Given the description of an element on the screen output the (x, y) to click on. 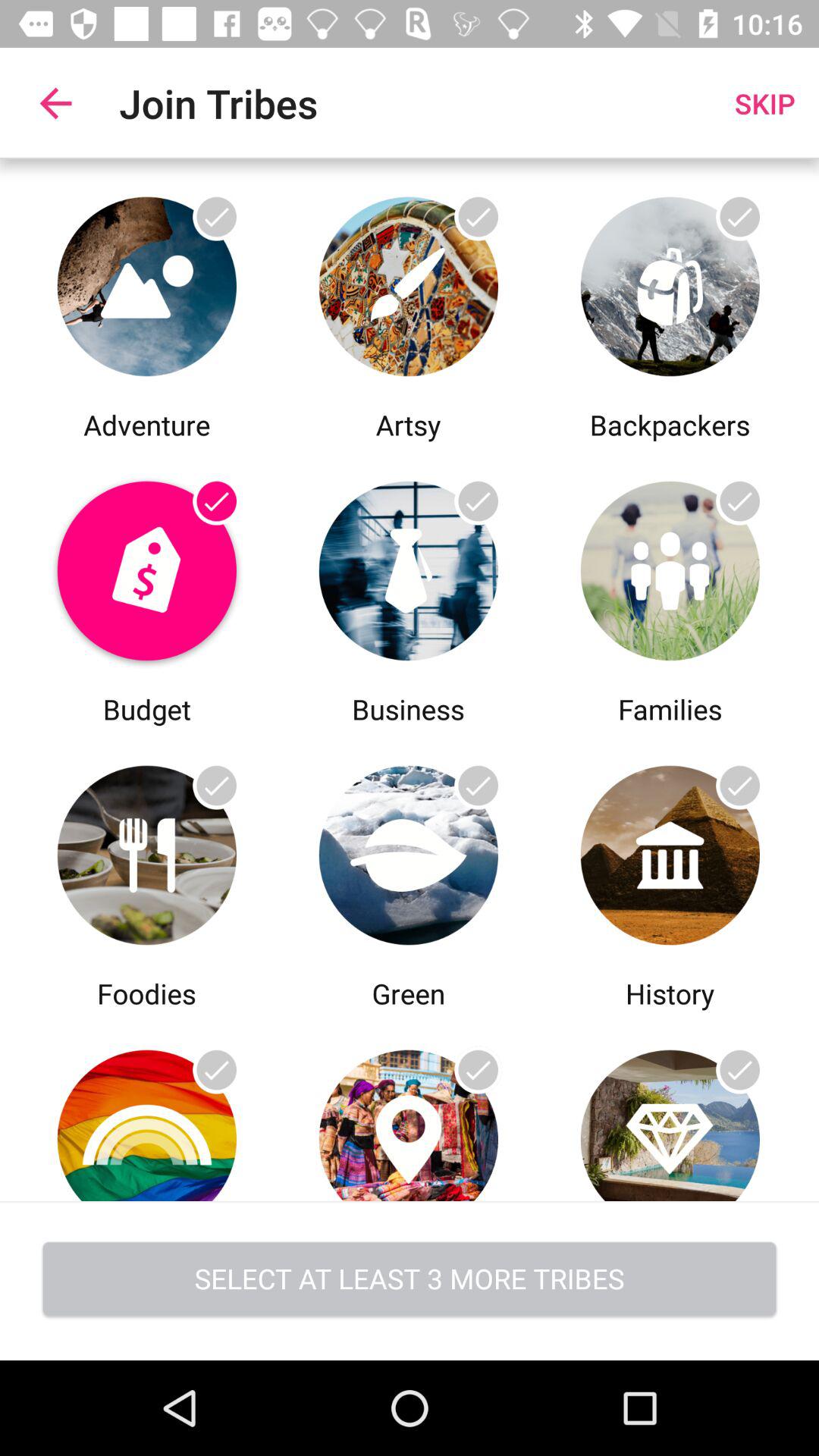
click on the adventure option (146, 282)
